Given the description of an element on the screen output the (x, y) to click on. 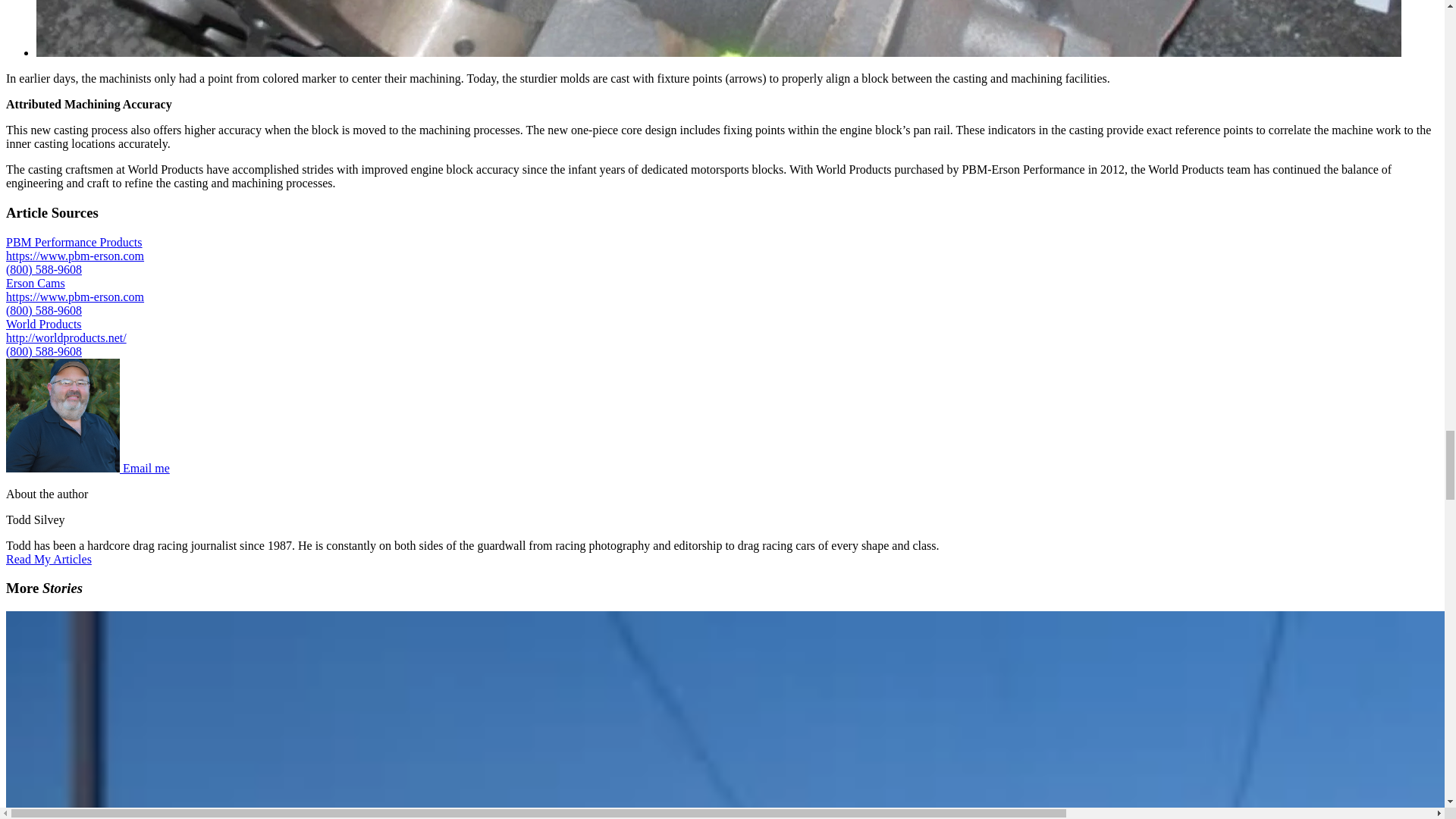
World Products (43, 323)
PBM Performance Products (73, 241)
Erson Cams (35, 282)
Email me (146, 468)
Read My Articles (48, 558)
